Given the description of an element on the screen output the (x, y) to click on. 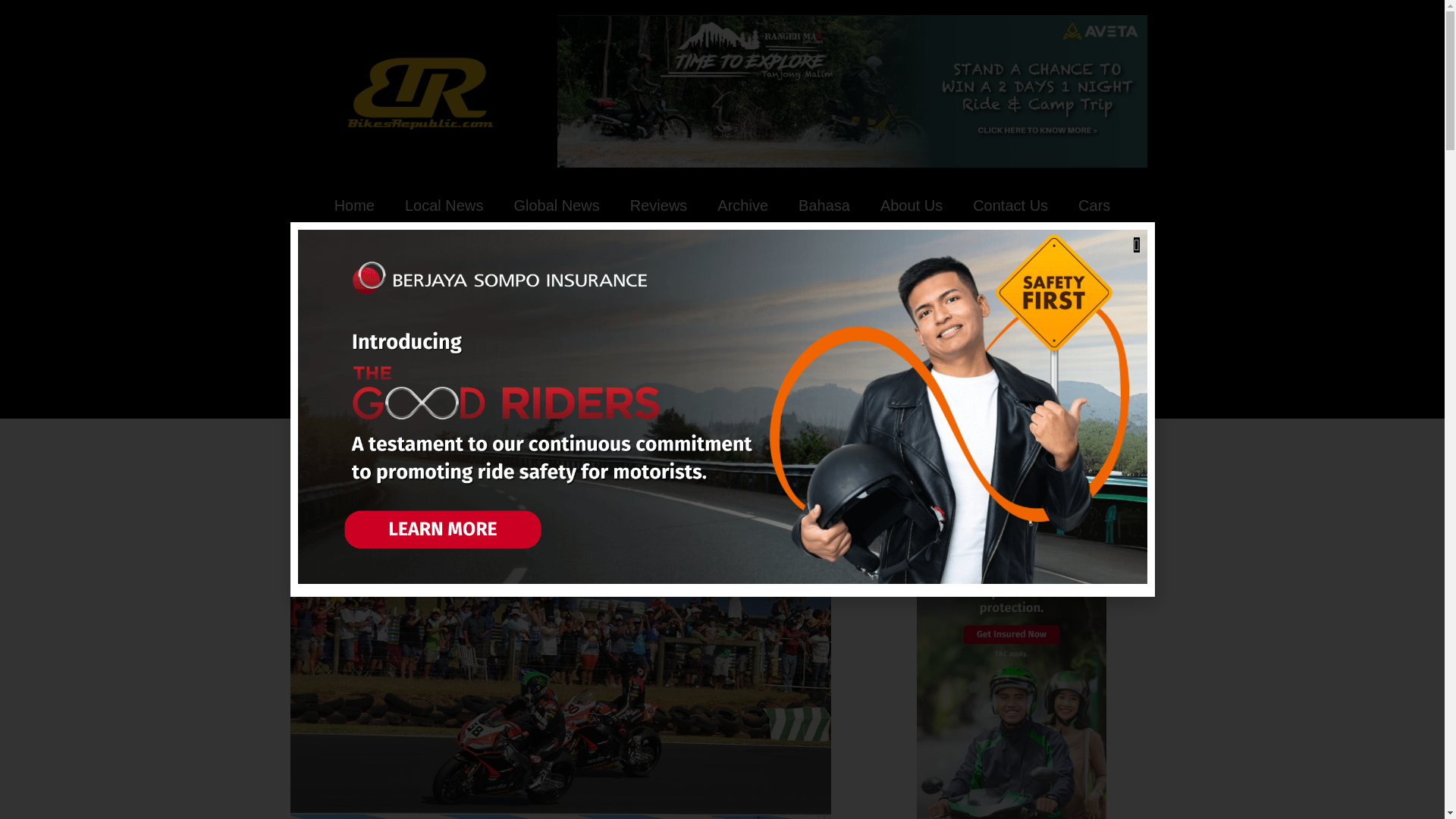
Contact Us (1010, 205)
Keshy Dhillon (490, 558)
Cars (1093, 205)
Archive (393, 558)
Archive (742, 205)
English (427, 558)
Local News (443, 205)
Bahasa (823, 205)
Home (354, 205)
Global News (555, 205)
Reviews (658, 205)
About Us (911, 205)
